Given the description of an element on the screen output the (x, y) to click on. 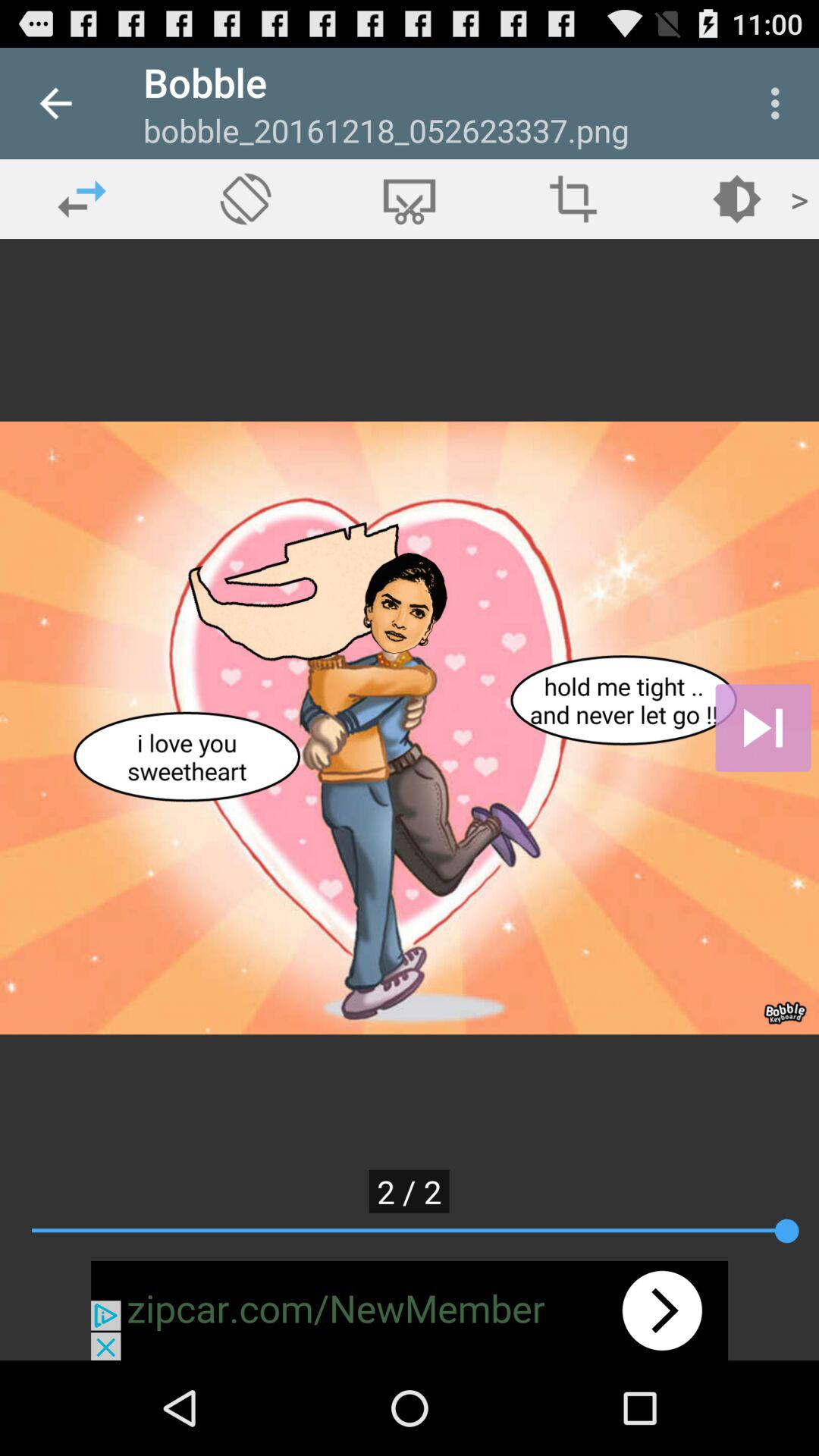
crop image (409, 198)
